Given the description of an element on the screen output the (x, y) to click on. 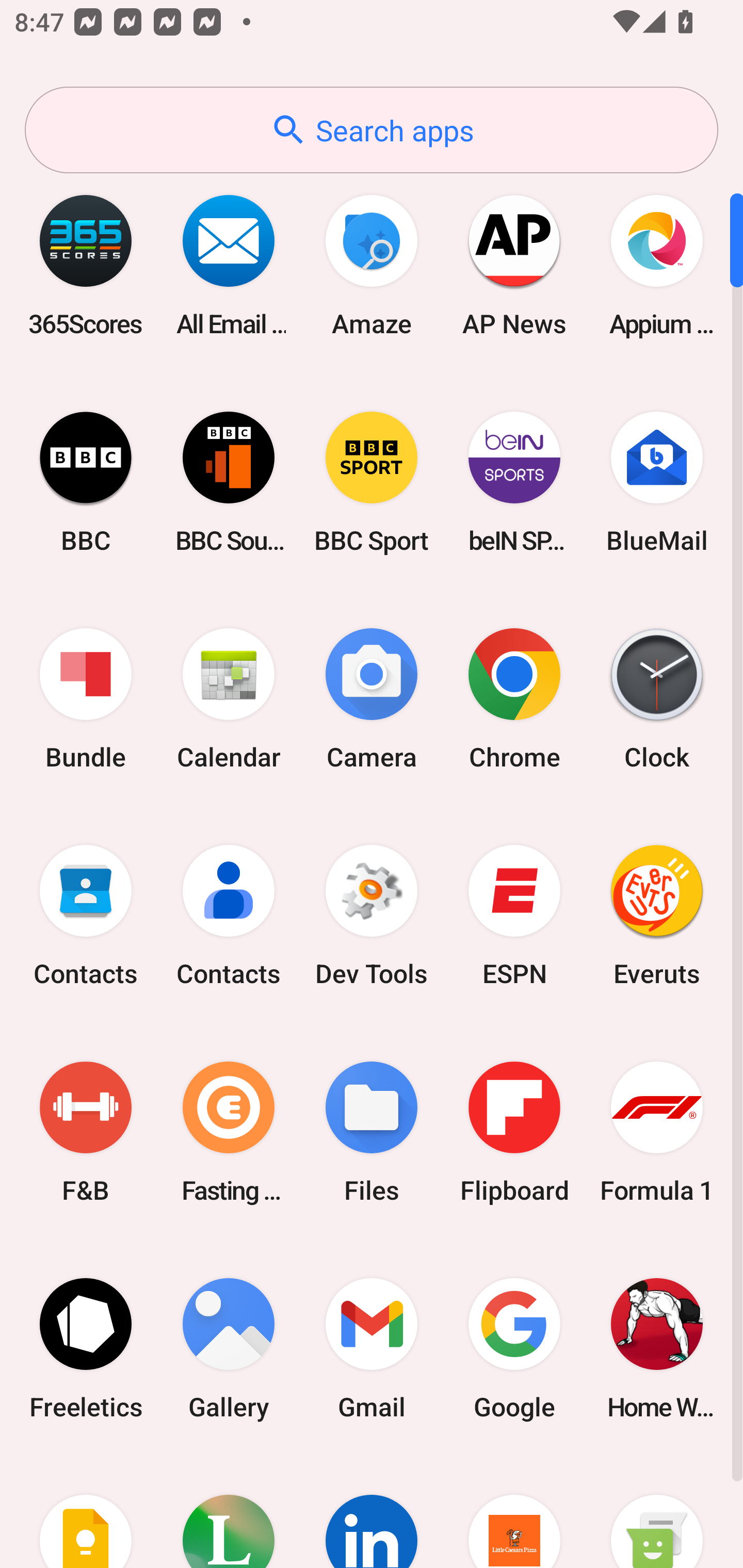
  Search apps (371, 130)
365Scores (85, 264)
All Email Connect (228, 264)
Amaze (371, 264)
AP News (514, 264)
Appium Settings (656, 264)
BBC (85, 482)
BBC Sounds (228, 482)
BBC Sport (371, 482)
beIN SPORTS (514, 482)
BlueMail (656, 482)
Bundle (85, 699)
Calendar (228, 699)
Camera (371, 699)
Chrome (514, 699)
Clock (656, 699)
Contacts (85, 915)
Contacts (228, 915)
Dev Tools (371, 915)
ESPN (514, 915)
Everuts (656, 915)
F&B (85, 1131)
Fasting Coach (228, 1131)
Files (371, 1131)
Flipboard (514, 1131)
Formula 1 (656, 1131)
Freeletics (85, 1348)
Gallery (228, 1348)
Gmail (371, 1348)
Google (514, 1348)
Home Workout (656, 1348)
Keep Notes (85, 1512)
Lifesum (228, 1512)
LinkedIn (371, 1512)
Little Caesars Pizza (514, 1512)
Messaging (656, 1512)
